Given the description of an element on the screen output the (x, y) to click on. 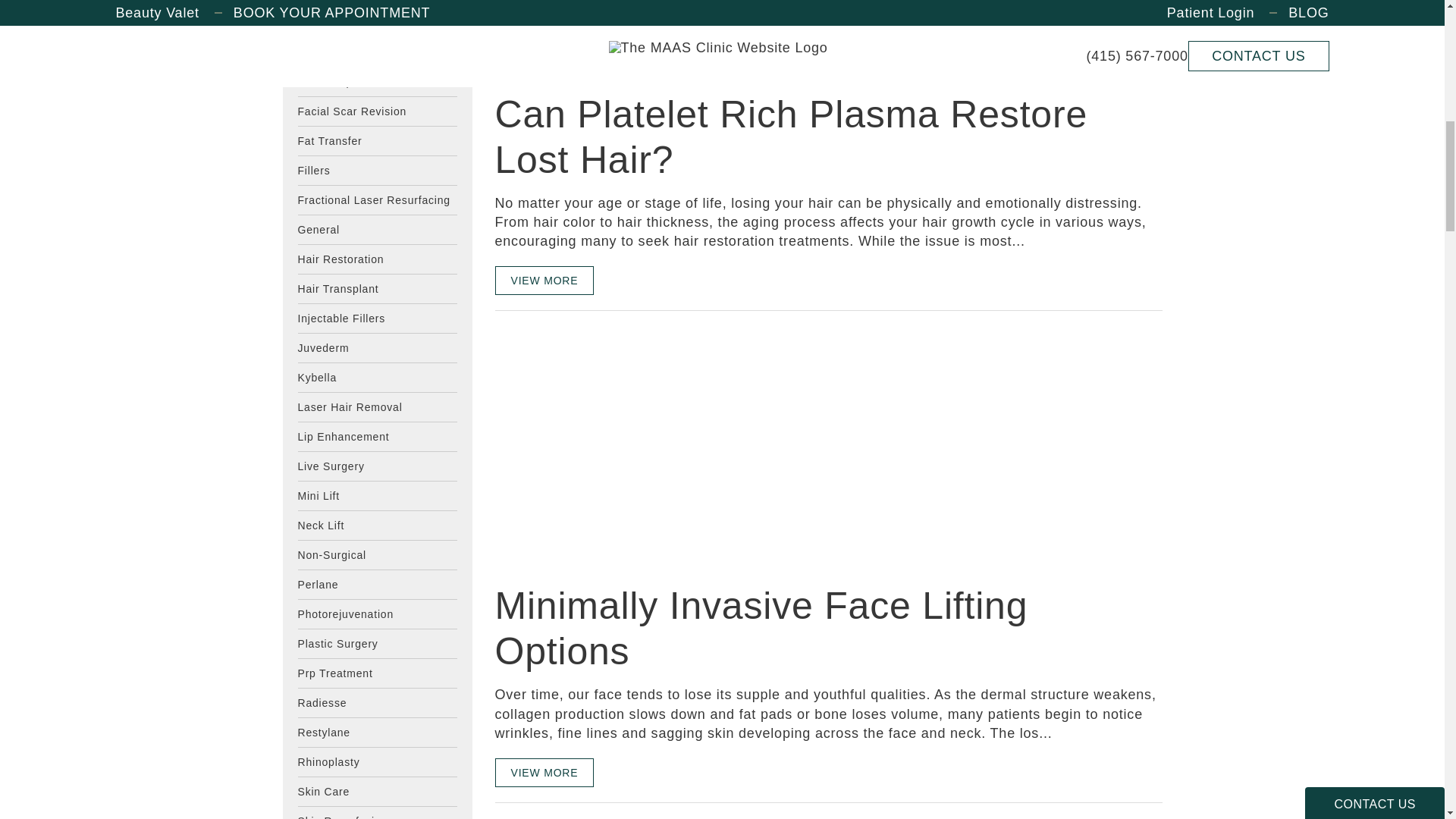
View full blog article (544, 18)
View full blog article (544, 280)
View full blog article (544, 772)
View blog article (608, 446)
View blog article (608, 69)
